Given the description of an element on the screen output the (x, y) to click on. 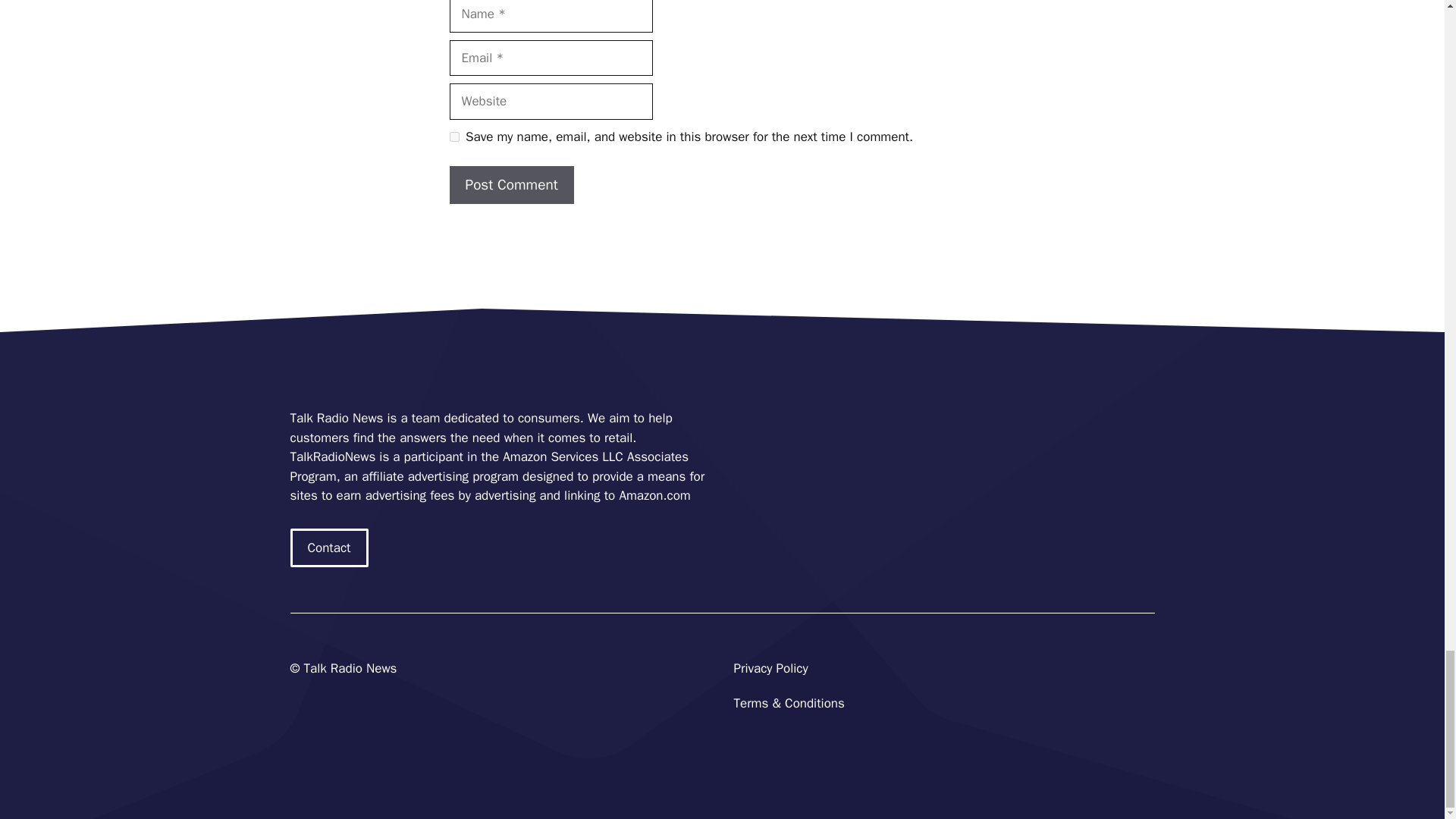
Post Comment (510, 185)
Contact (328, 548)
Post Comment (510, 185)
Privacy Policy (770, 668)
yes (453, 136)
